Given the description of an element on the screen output the (x, y) to click on. 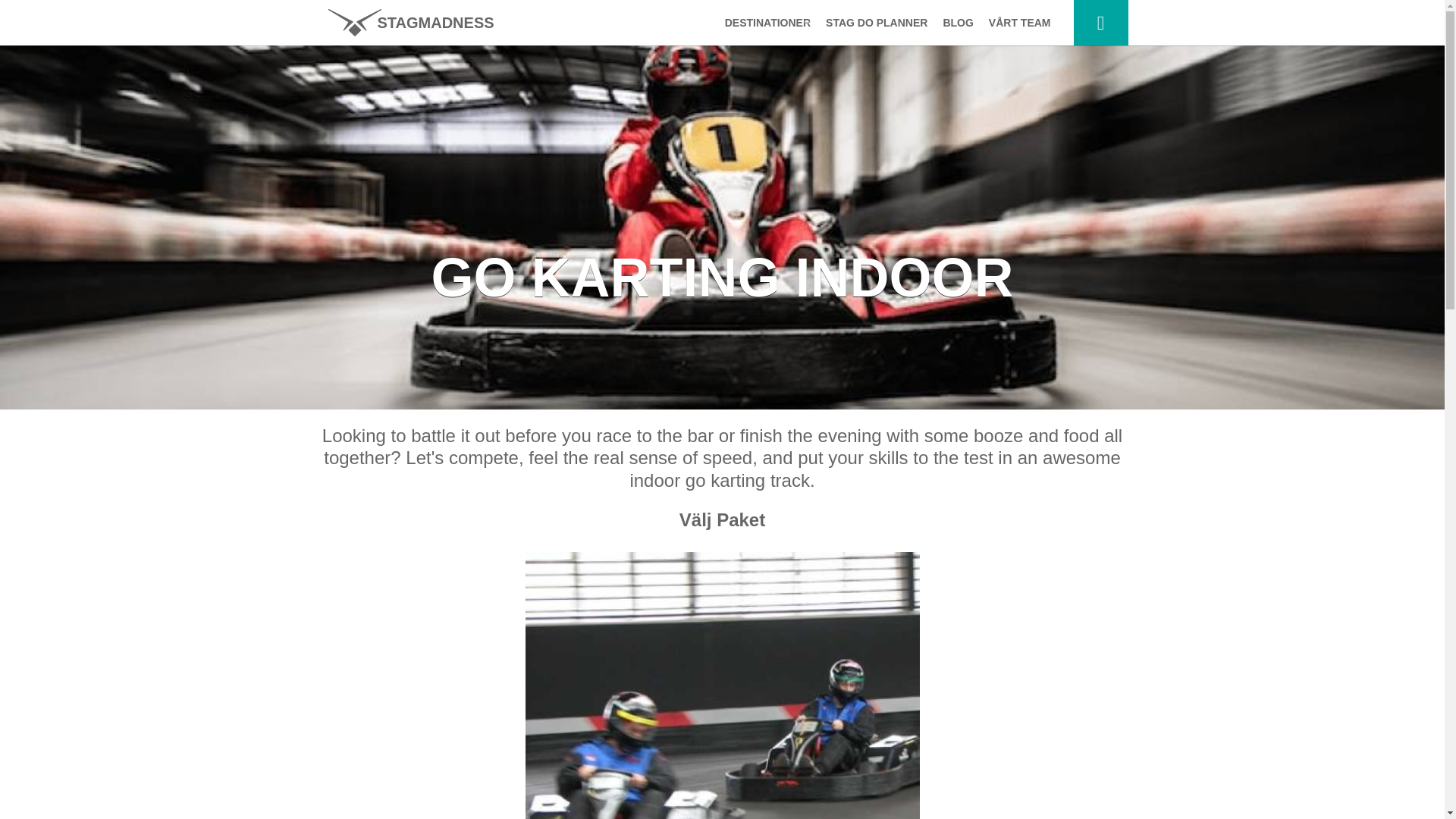
DESTINATIONER (764, 22)
PRAG (764, 91)
AMSTERDAM (764, 121)
BRATISLAVA (764, 182)
STAGMADNESS (409, 22)
BUDAPEST (764, 60)
KRAKOW (764, 212)
Our stag do organizer team in  (1019, 22)
BERLIN (764, 242)
Stag Do Planner (876, 22)
Blog (956, 22)
HAMBURG (764, 151)
Brudgum Amsterdam (409, 22)
RIGA (764, 272)
Din svensexa helgs planer (1101, 22)
